Given the description of an element on the screen output the (x, y) to click on. 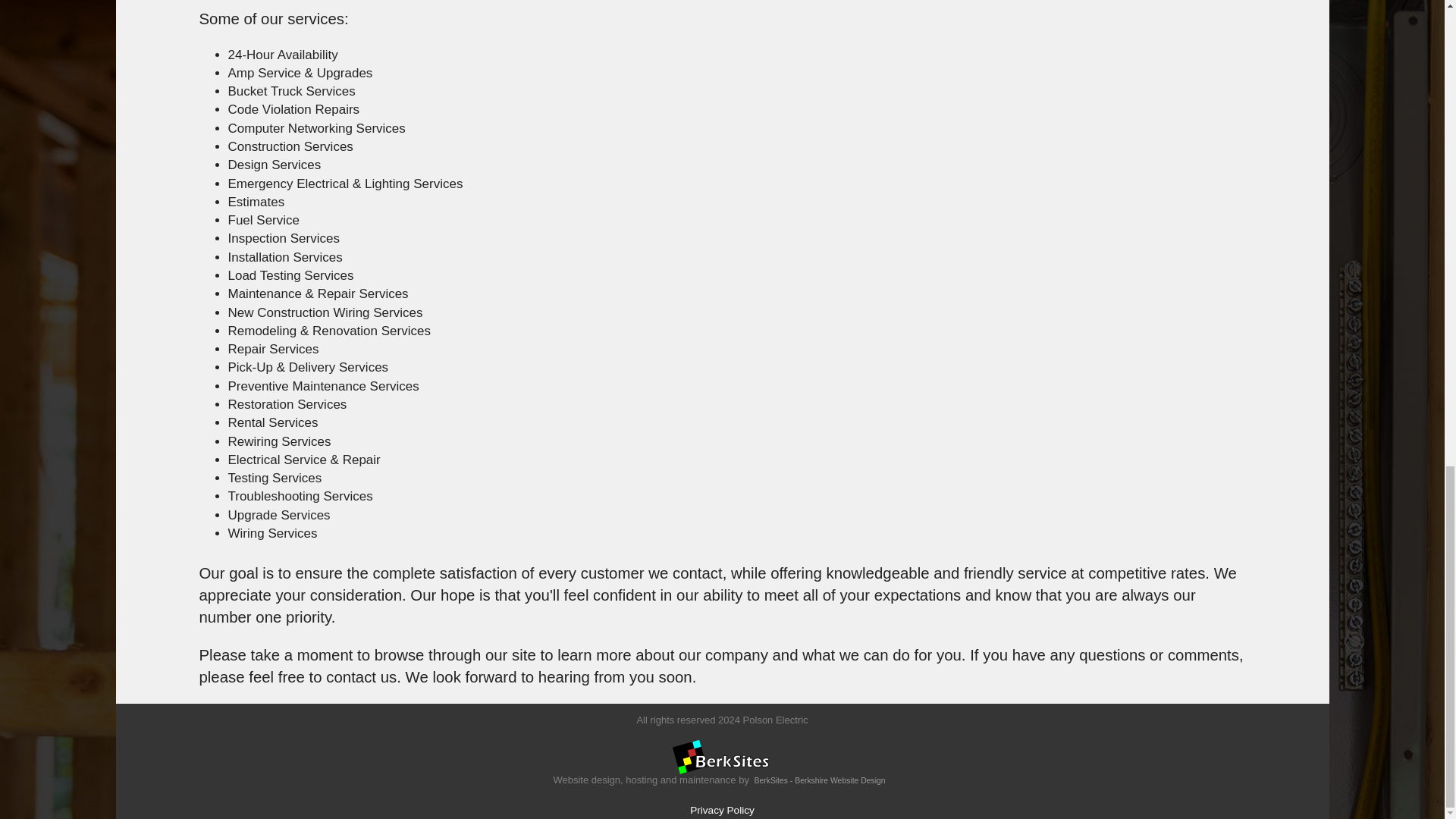
Privacy Policy (722, 809)
Privacy Policy (722, 809)
BerkSites - Berkshire Website Design (820, 780)
